Given the description of an element on the screen output the (x, y) to click on. 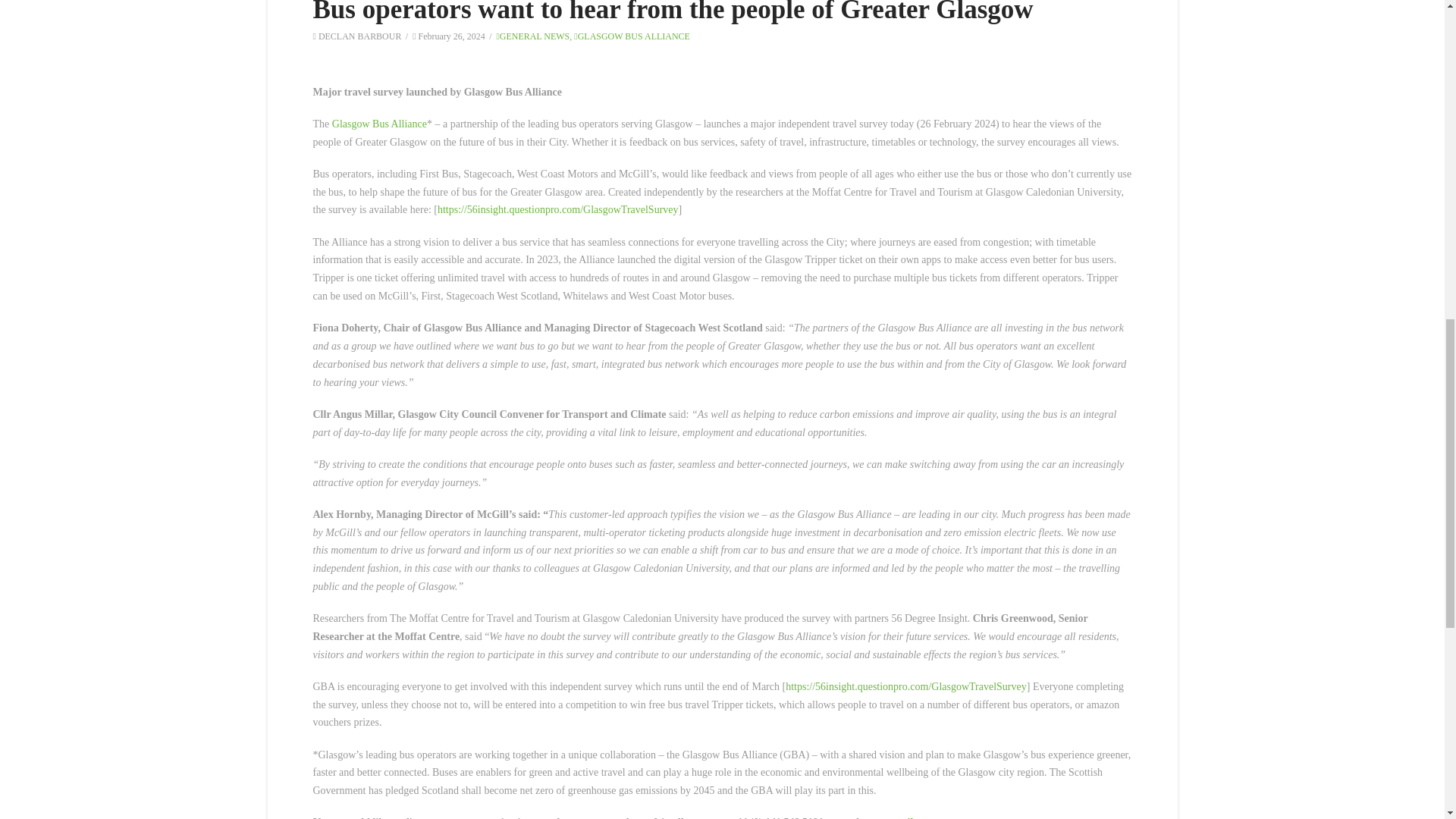
GLASGOW BUS ALLIANCE (631, 36)
Glasgow Bus Alliance (378, 123)
GENERAL NEWS (532, 36)
email (901, 817)
